Given the description of an element on the screen output the (x, y) to click on. 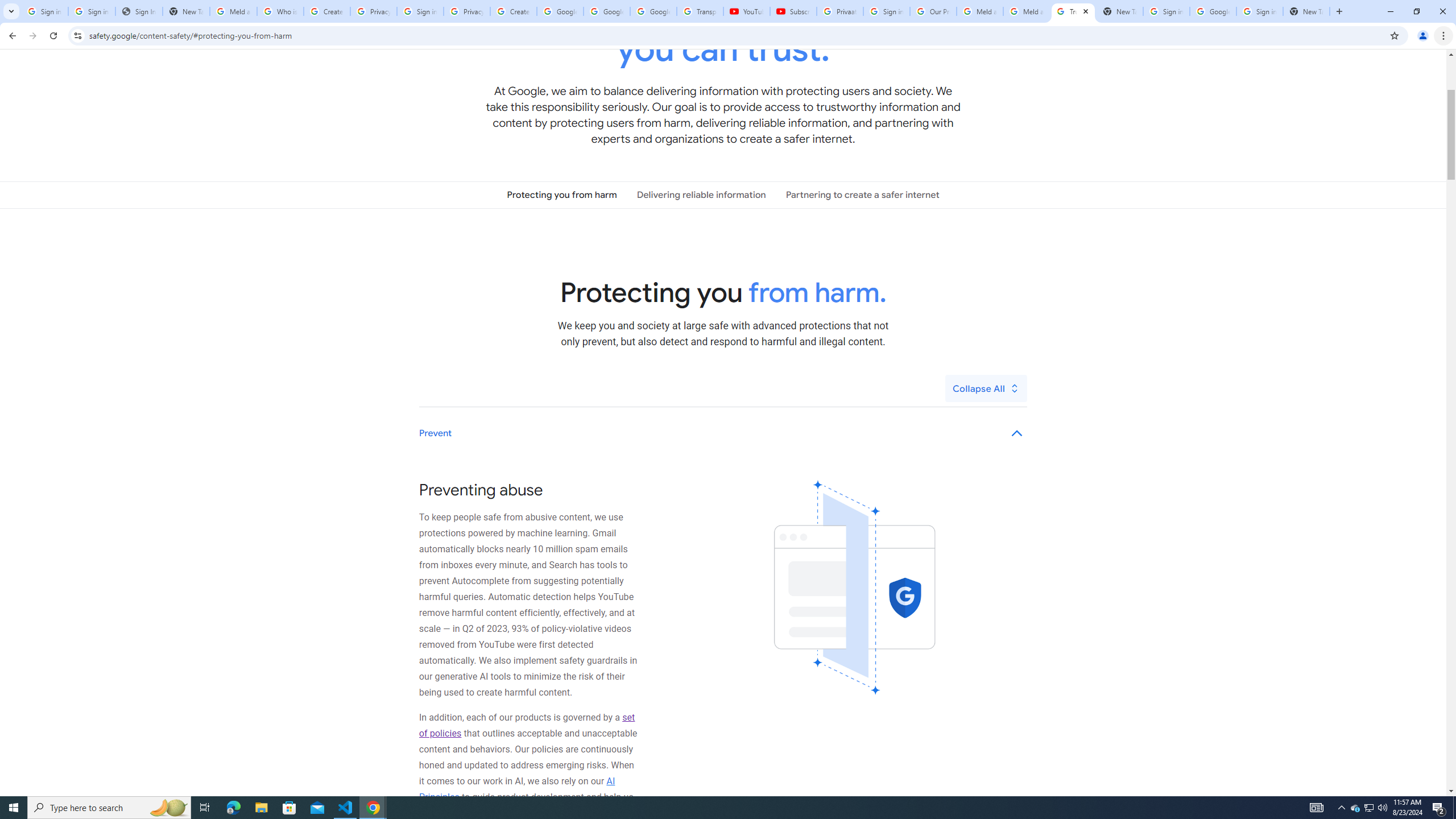
Delivering reliable information (700, 194)
Sign in - Google Accounts (886, 11)
Trusted Information and Content - Google Safety Center (1073, 11)
Protecting you from harm (561, 194)
Sign in - Google Accounts (1166, 11)
Sign in - Google Accounts (91, 11)
